Given the description of an element on the screen output the (x, y) to click on. 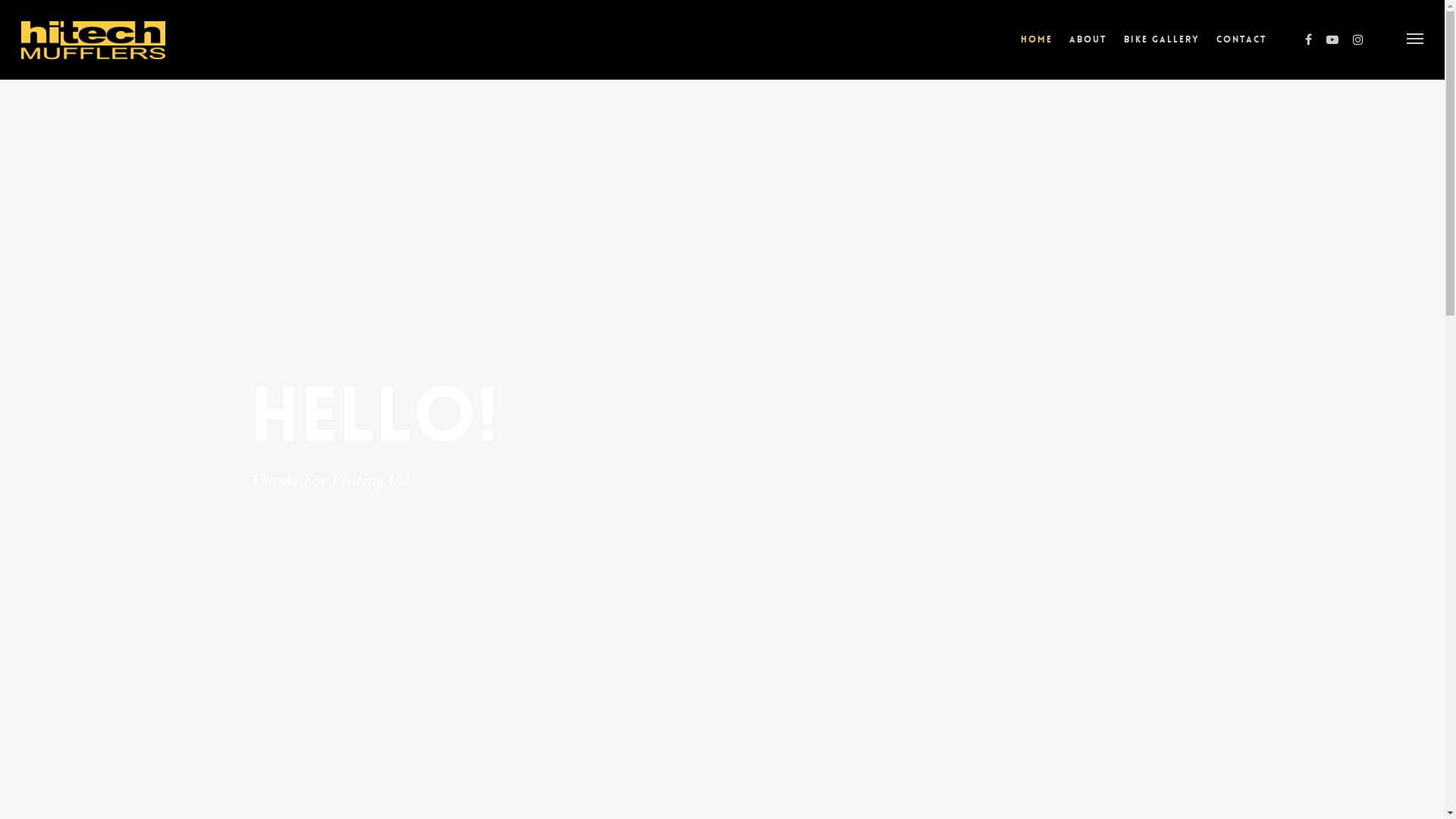
About Element type: text (1087, 50)
Home Element type: text (1036, 50)
Contact Element type: text (1241, 50)
Bike Gallery Element type: text (1161, 50)
